Given the description of an element on the screen output the (x, y) to click on. 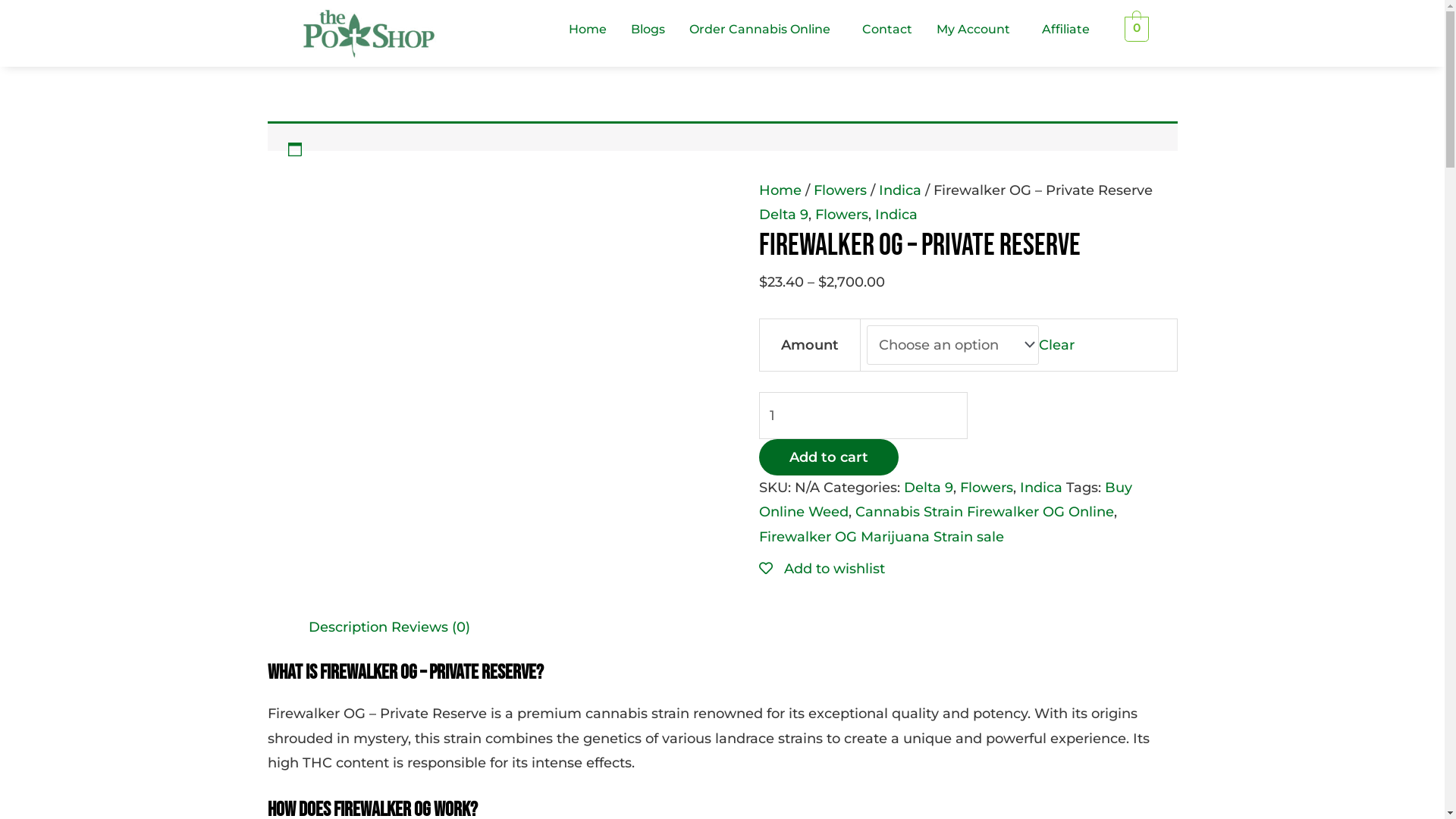
Contact Element type: text (887, 29)
Indica Element type: text (899, 190)
Affiliate Element type: text (1065, 29)
Flowers Element type: text (986, 487)
Add to wishlist Element type: text (821, 568)
Clear Element type: text (1056, 344)
Indica Element type: text (896, 214)
Description Element type: text (346, 626)
Delta 9 Element type: text (782, 214)
Buy Online Weed Element type: text (944, 499)
My Account Element type: text (976, 29)
Flowers Element type: text (840, 214)
Blogs Element type: text (647, 29)
Order Cannabis Online Element type: text (763, 29)
Reviews (0) Element type: text (430, 626)
Flowers Element type: text (839, 190)
Home Element type: text (779, 190)
Firewalker OG Marijuana Strain sale Element type: text (880, 536)
Cannabis Strain Firewalker OG Online Element type: text (984, 511)
Home Element type: text (587, 29)
Add to cart Element type: text (827, 457)
0 Element type: text (1136, 27)
Indica Element type: text (1040, 487)
Delta 9 Element type: text (928, 487)
